Given the description of an element on the screen output the (x, y) to click on. 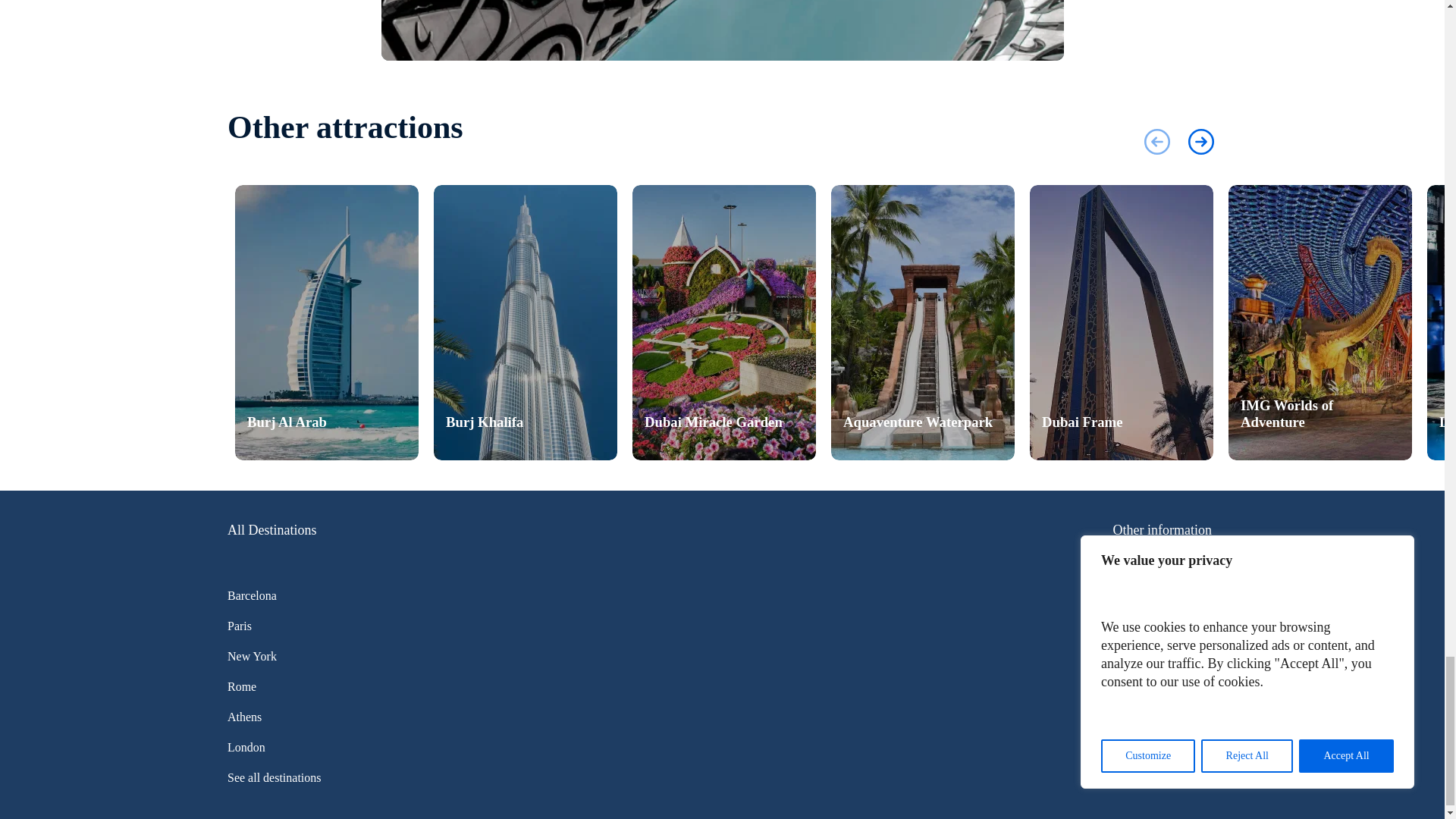
IMG Worlds of Adventure (1320, 322)
Burj Al Arab (326, 322)
Dubai Frame (1120, 322)
Aquaventure Waterpark (922, 322)
Dubai Miracle Garden (723, 322)
Burj Khalifa (525, 322)
